Given the description of an element on the screen output the (x, y) to click on. 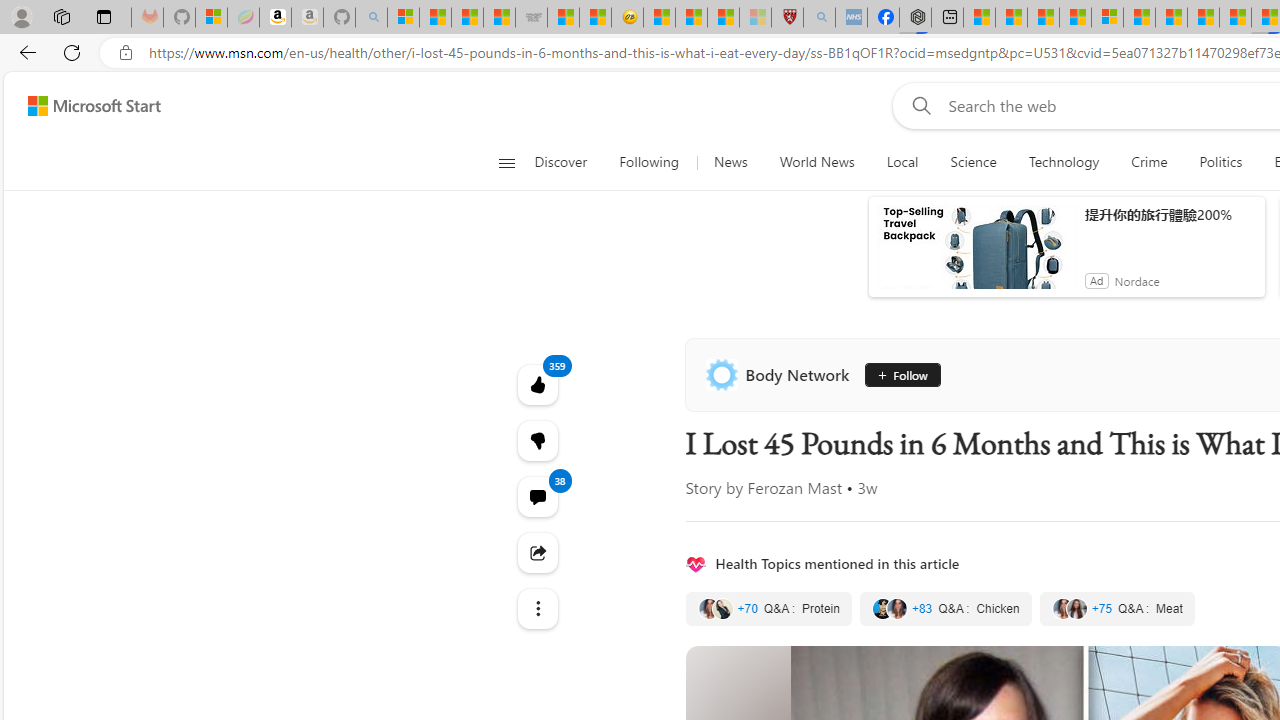
359 Like (537, 384)
Share this story (537, 552)
Body Network (781, 374)
